Given the description of an element on the screen output the (x, y) to click on. 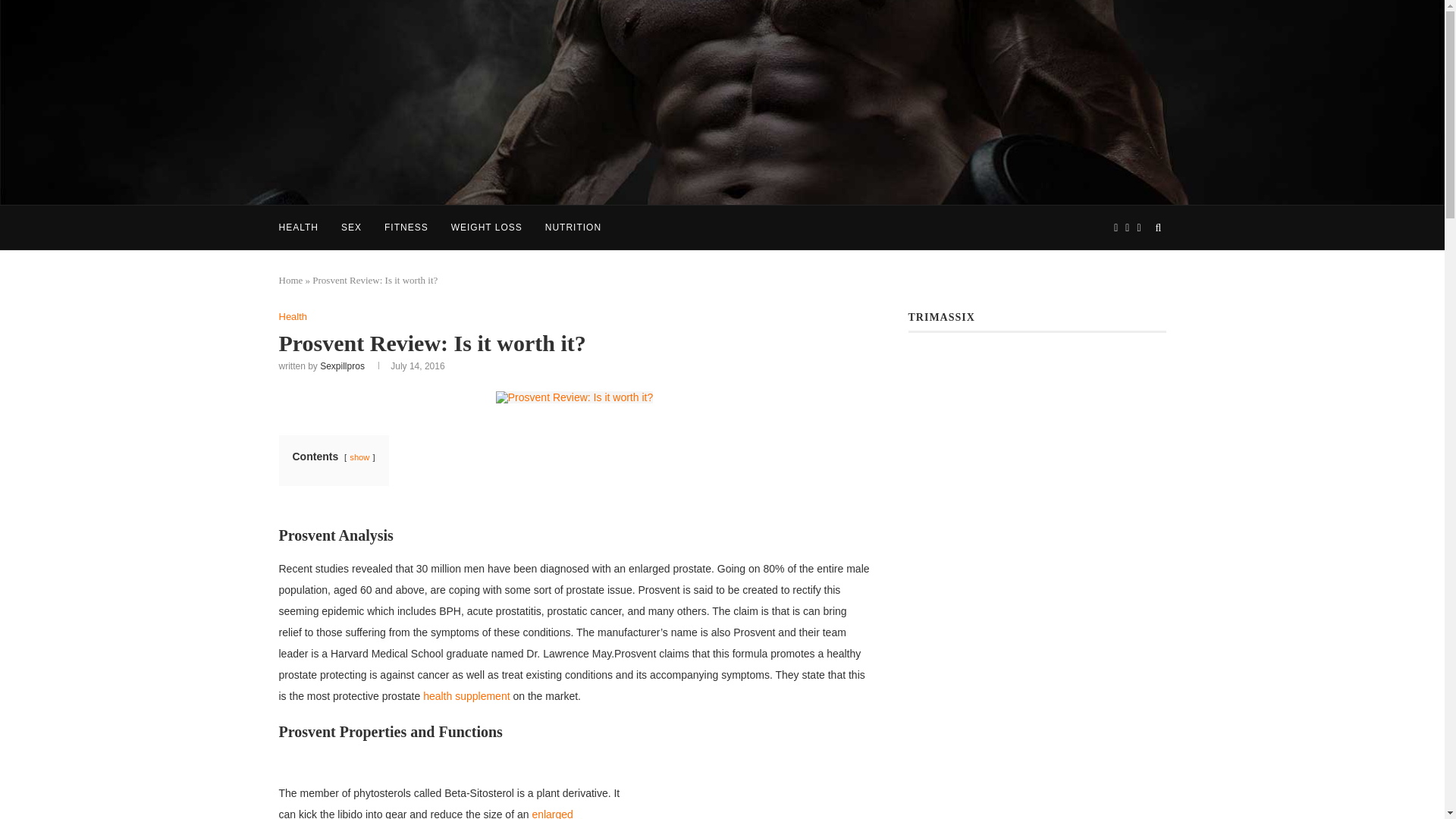
HEALTH (298, 227)
Sexpillpros (342, 366)
WEIGHT LOSS (486, 227)
NUTRITION (572, 227)
show (359, 456)
Health (293, 316)
enlarged prostate (426, 813)
Home (290, 279)
health supplement (466, 695)
4 (574, 397)
